Given the description of an element on the screen output the (x, y) to click on. 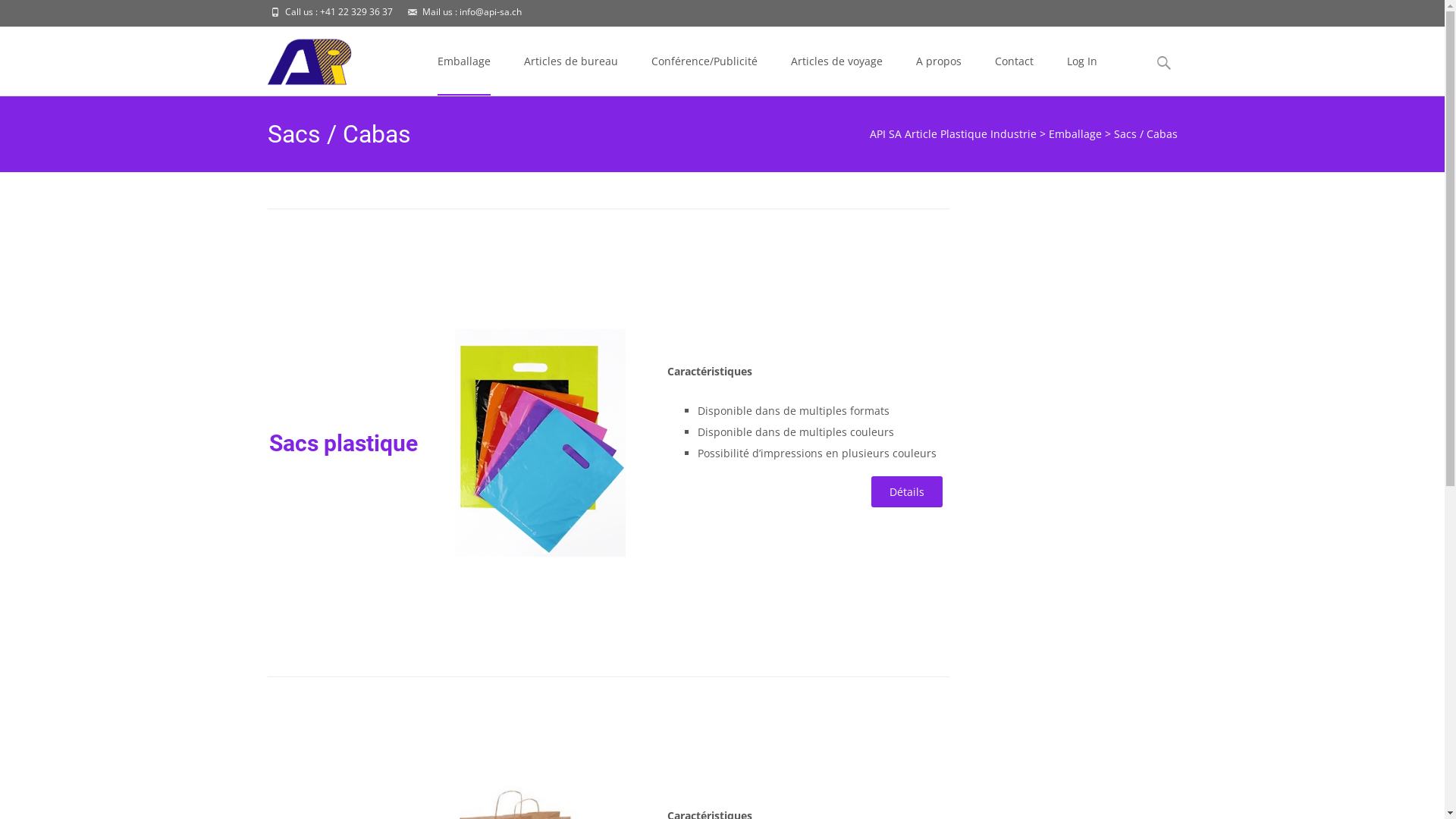
Emballage Element type: text (462, 61)
Search for: Element type: hover (1163, 63)
Articles de voyage Element type: text (835, 61)
Emballage Element type: text (1074, 133)
Skip to content Element type: text (459, 36)
Articles de bureau Element type: text (570, 61)
Sacs plastique Element type: text (343, 442)
Contact Element type: text (1013, 61)
Search Element type: text (18, 15)
API SA Article Plastique Industrie Element type: text (952, 133)
A propos Element type: text (938, 61)
API SA Article Plastique Industrie Element type: hover (298, 57)
Log In Element type: text (1081, 61)
